Given the description of an element on the screen output the (x, y) to click on. 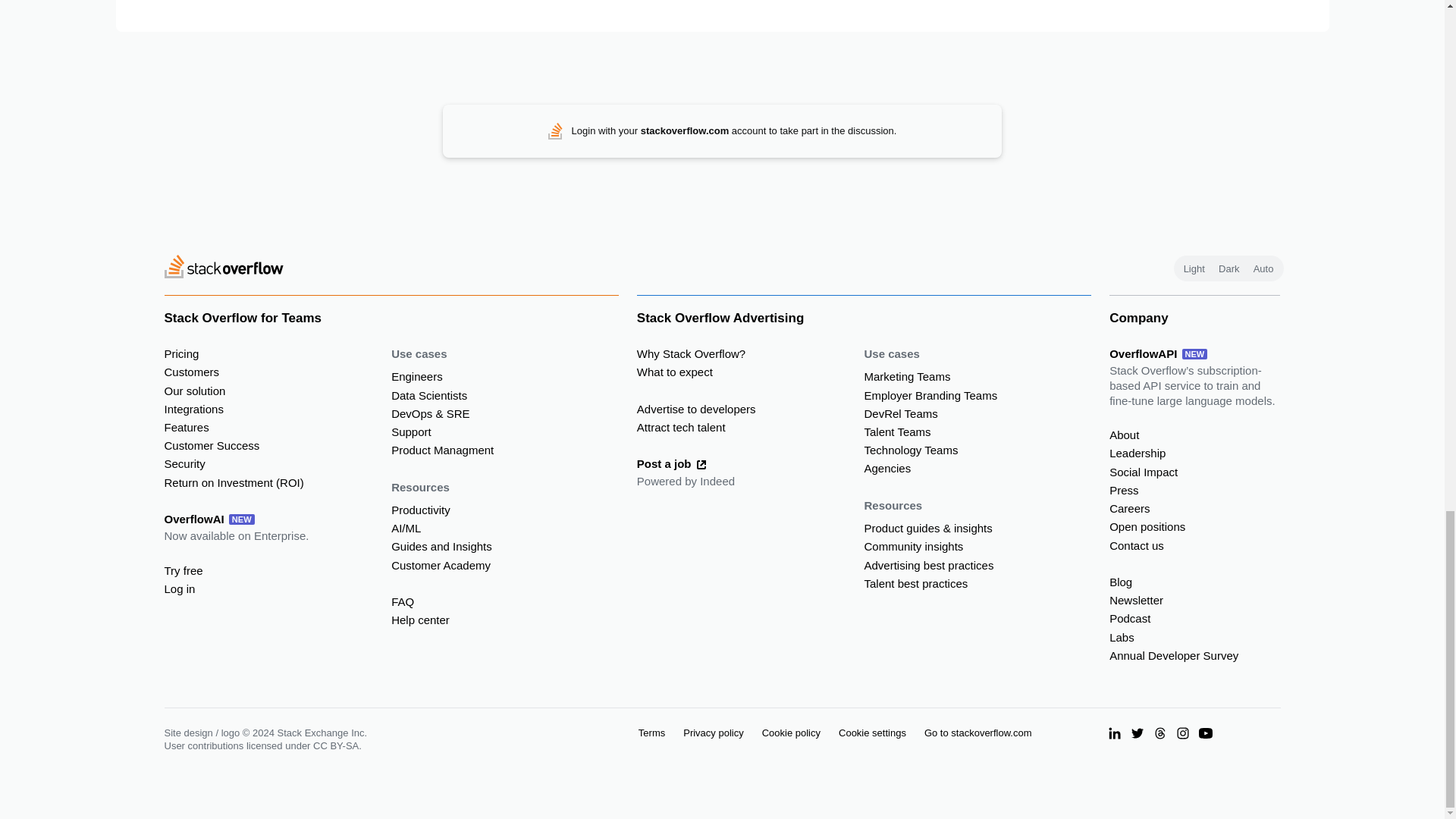
Instagram (1182, 732)
Open OneTrust cookie settings (871, 732)
YouTube (1205, 732)
LinkedIn (1114, 732)
Threads (1160, 732)
Return to home (222, 268)
